Given the description of an element on the screen output the (x, y) to click on. 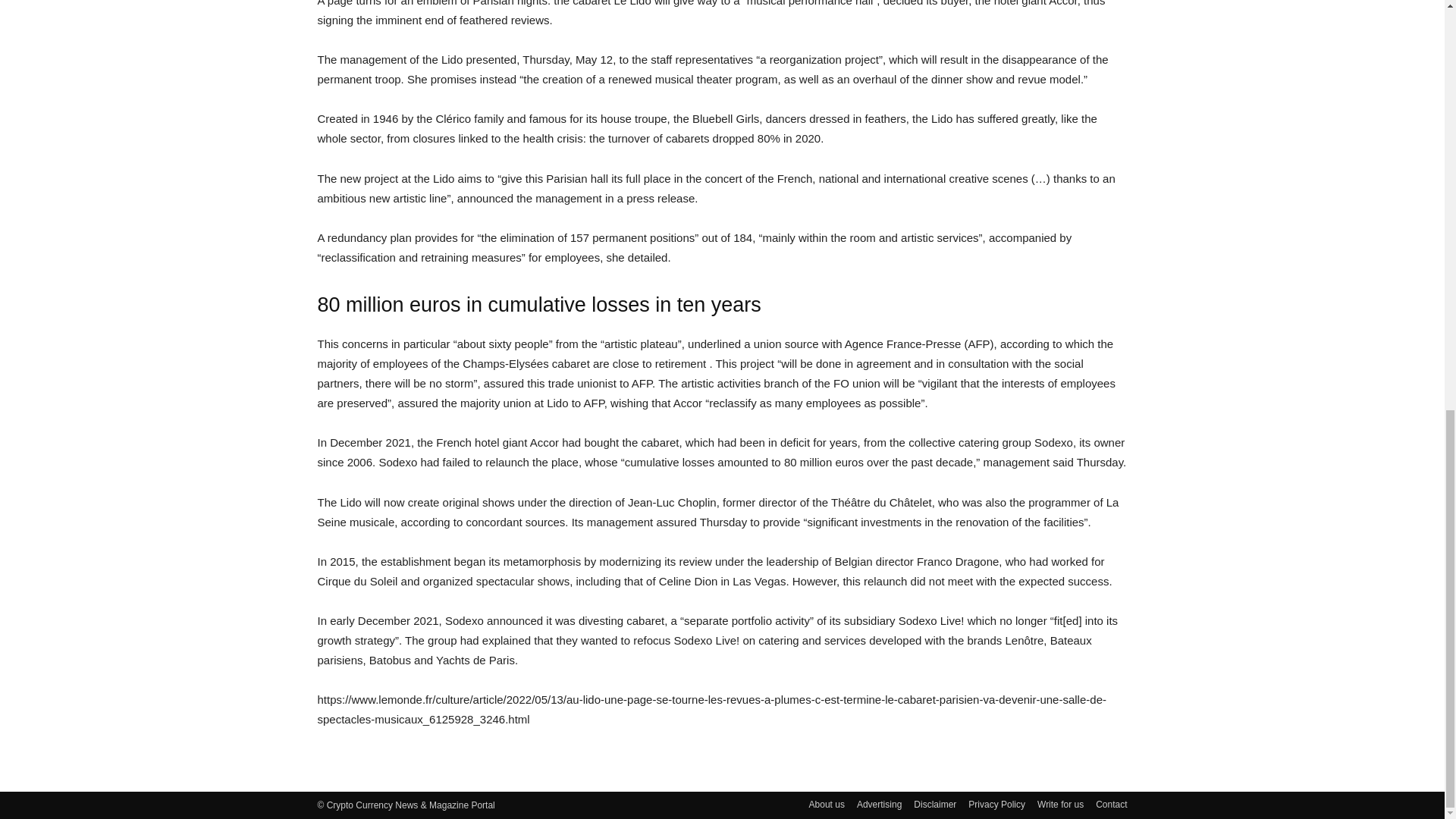
About us (826, 804)
Advertising (879, 804)
Privacy Policy (996, 804)
Write for us (1059, 804)
Disclaimer (935, 804)
